Given the description of an element on the screen output the (x, y) to click on. 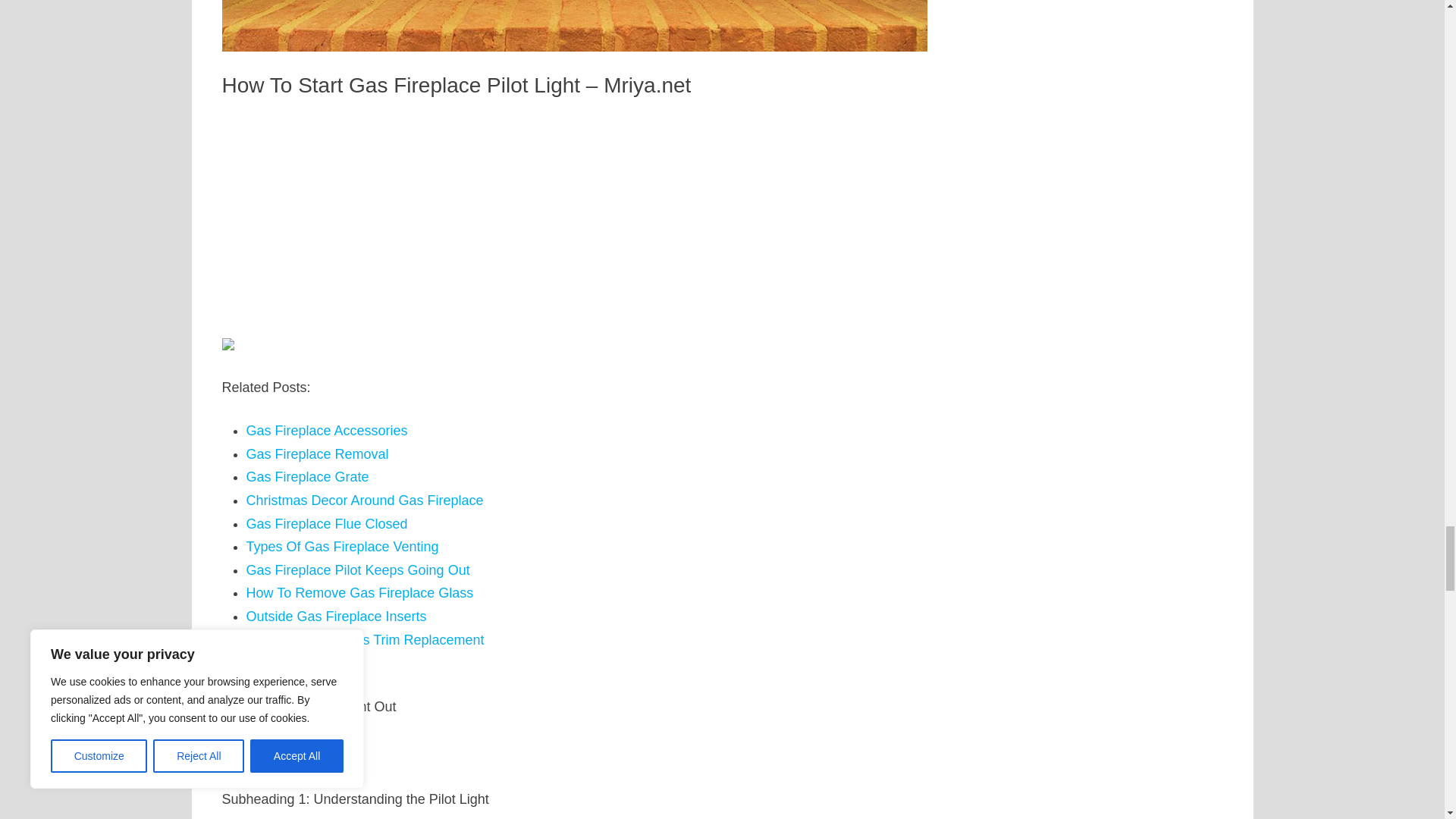
How To Remove Gas Fireplace Glass (359, 592)
Outside Gas Fireplace Inserts (336, 616)
Types Of Gas Fireplace Venting (342, 546)
Gas Fireplace Grate (307, 476)
Gas Fireplace Pilot Keeps Going Out (357, 570)
Gas Fireplace Removal (317, 453)
Gas Fireplace Flue Closed (326, 523)
Christmas Decor Around Gas Fireplace (364, 500)
Gas Fireplace Brass Trim Replacement (364, 639)
Gas Fireplace Accessories (326, 430)
